Given the description of an element on the screen output the (x, y) to click on. 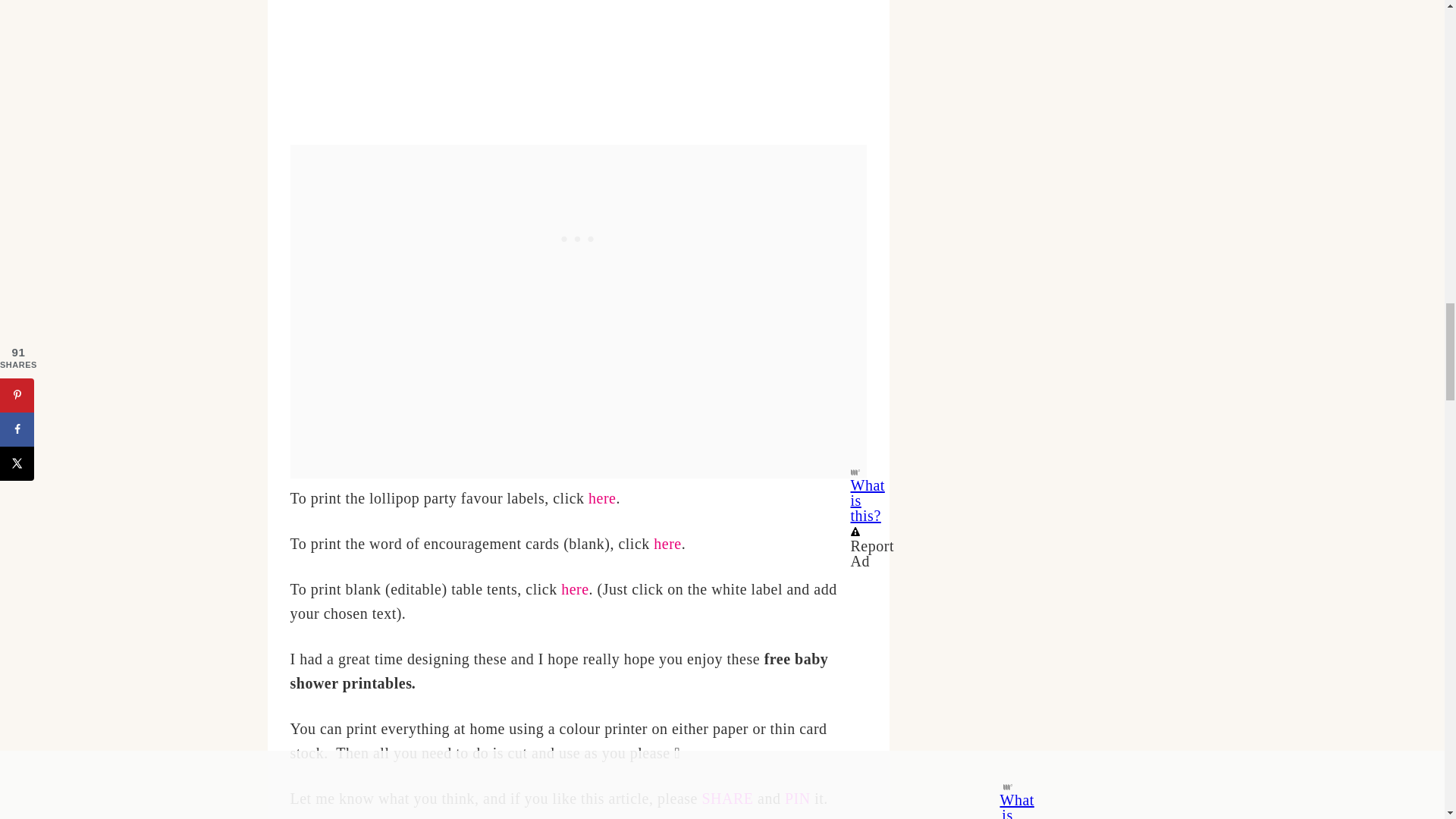
3rd party ad content (577, 239)
